Given the description of an element on the screen output the (x, y) to click on. 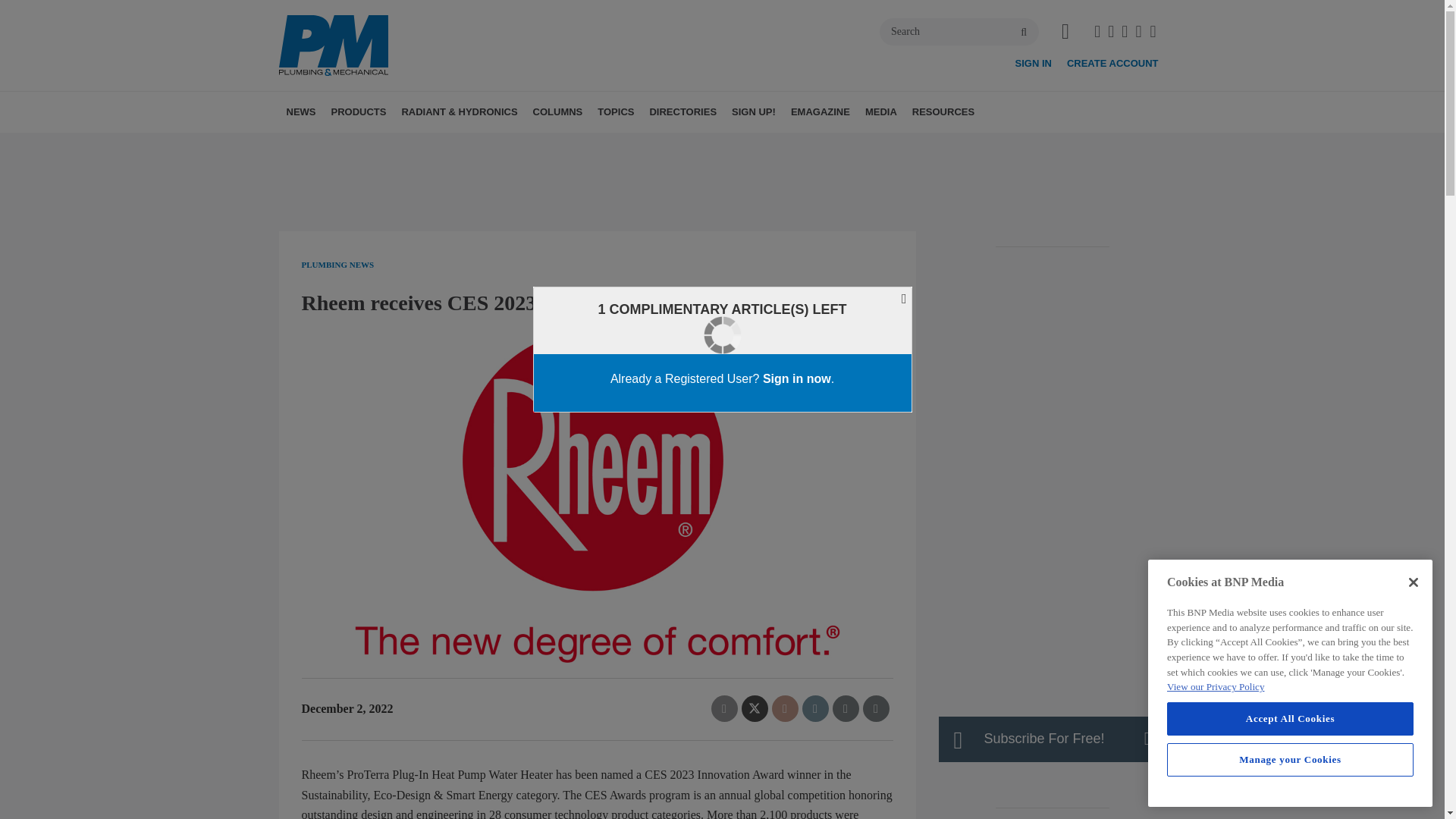
Search (959, 31)
Search (959, 31)
